Given the description of an element on the screen output the (x, y) to click on. 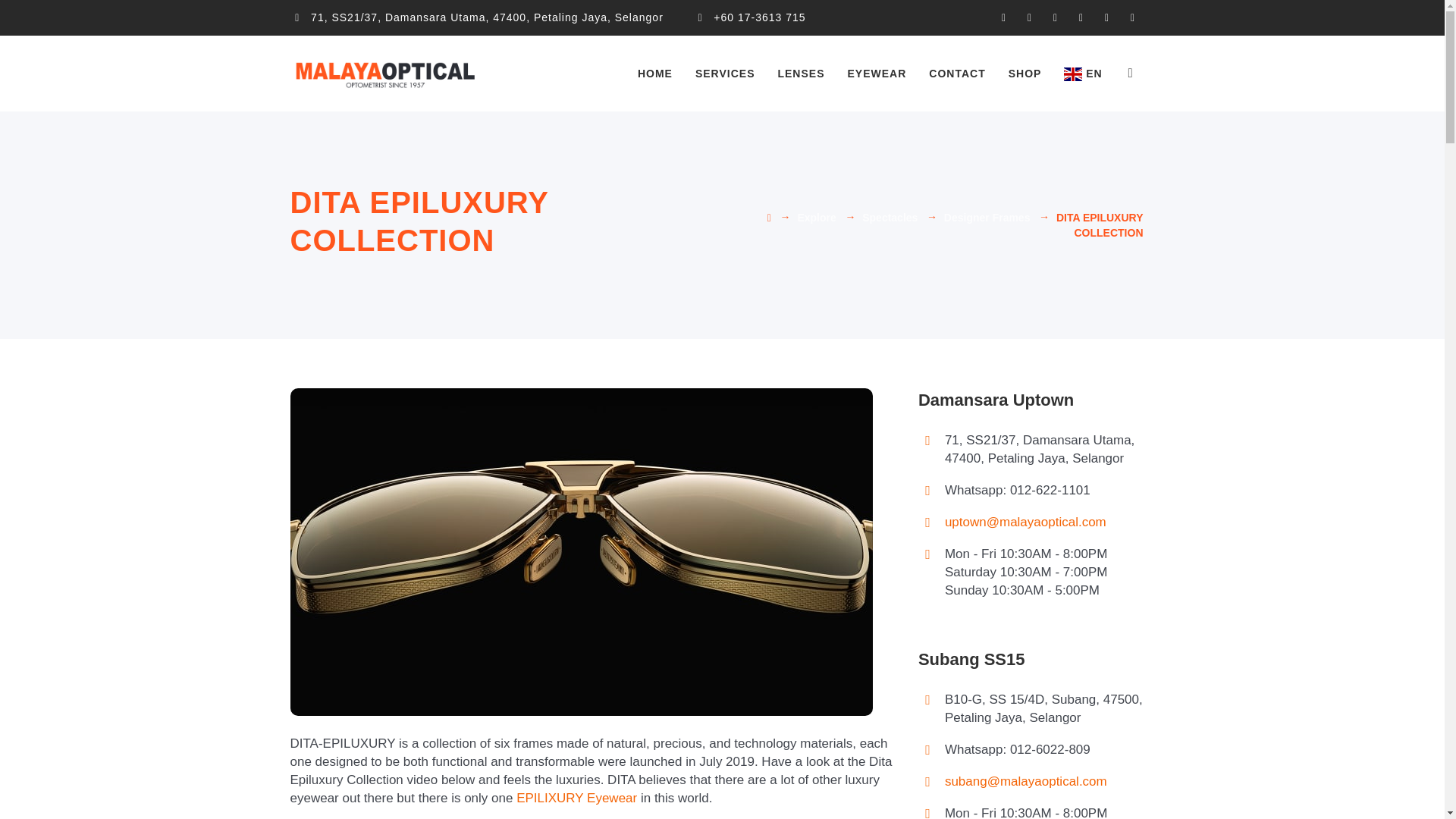
Go to Explore. (815, 217)
Go to the Spectacles Category archives. (889, 217)
Go to the Designer Frames Category archives. (986, 217)
